Given the description of an element on the screen output the (x, y) to click on. 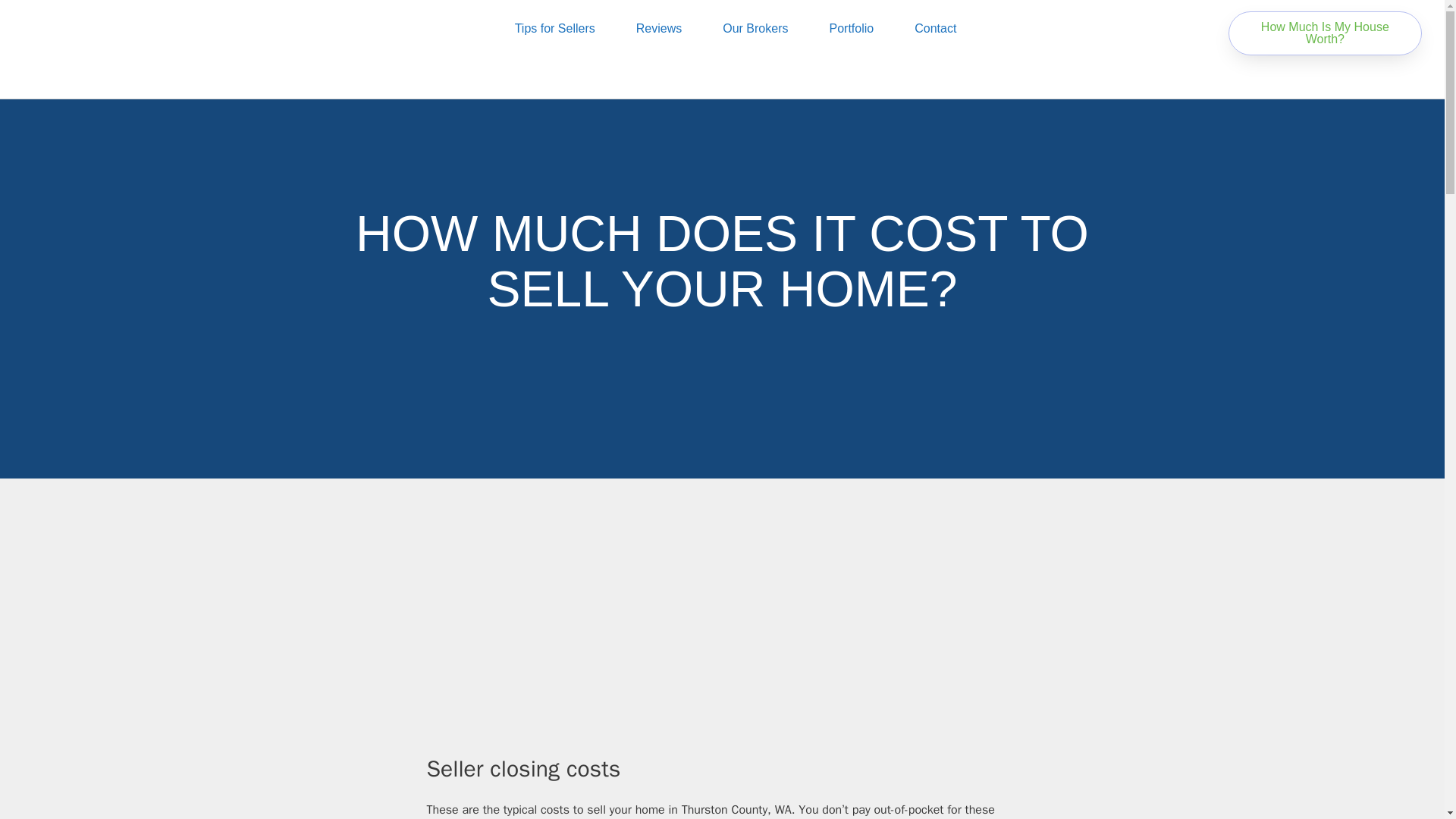
How Much Is My House Worth? (1325, 33)
Our Brokers (754, 28)
Reviews (658, 28)
Portfolio (850, 28)
Tips for Sellers (555, 28)
Contact (934, 28)
